Given the description of an element on the screen output the (x, y) to click on. 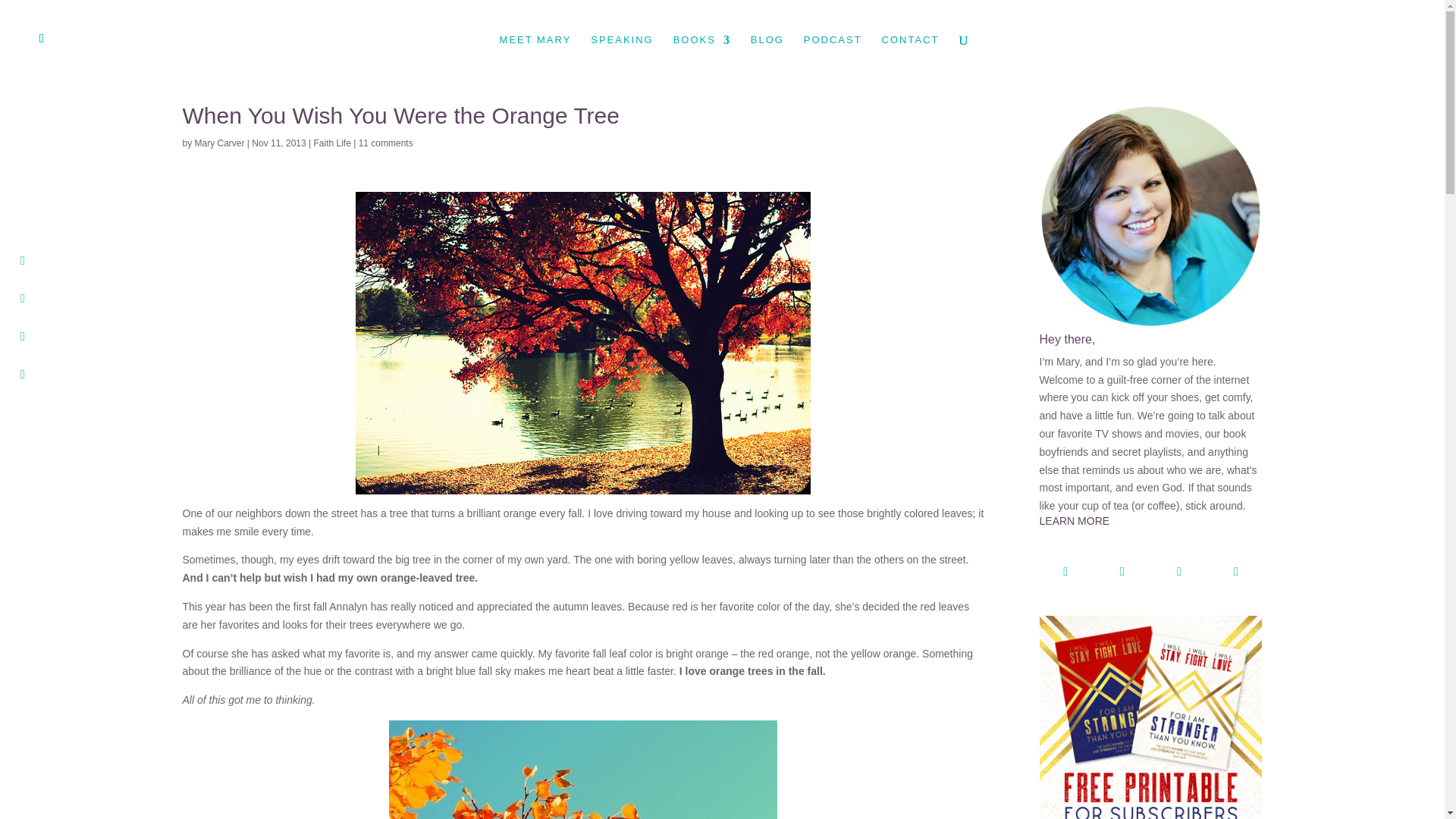
Posts by Mary Carver (219, 143)
PODCAST (832, 57)
Mary Carver (219, 143)
MEET MARY (535, 57)
LEARN MORE (1150, 532)
BOOKS (701, 57)
SPEAKING (621, 57)
Faith Life (332, 143)
CONTACT (910, 57)
11 comments (385, 143)
